Given the description of an element on the screen output the (x, y) to click on. 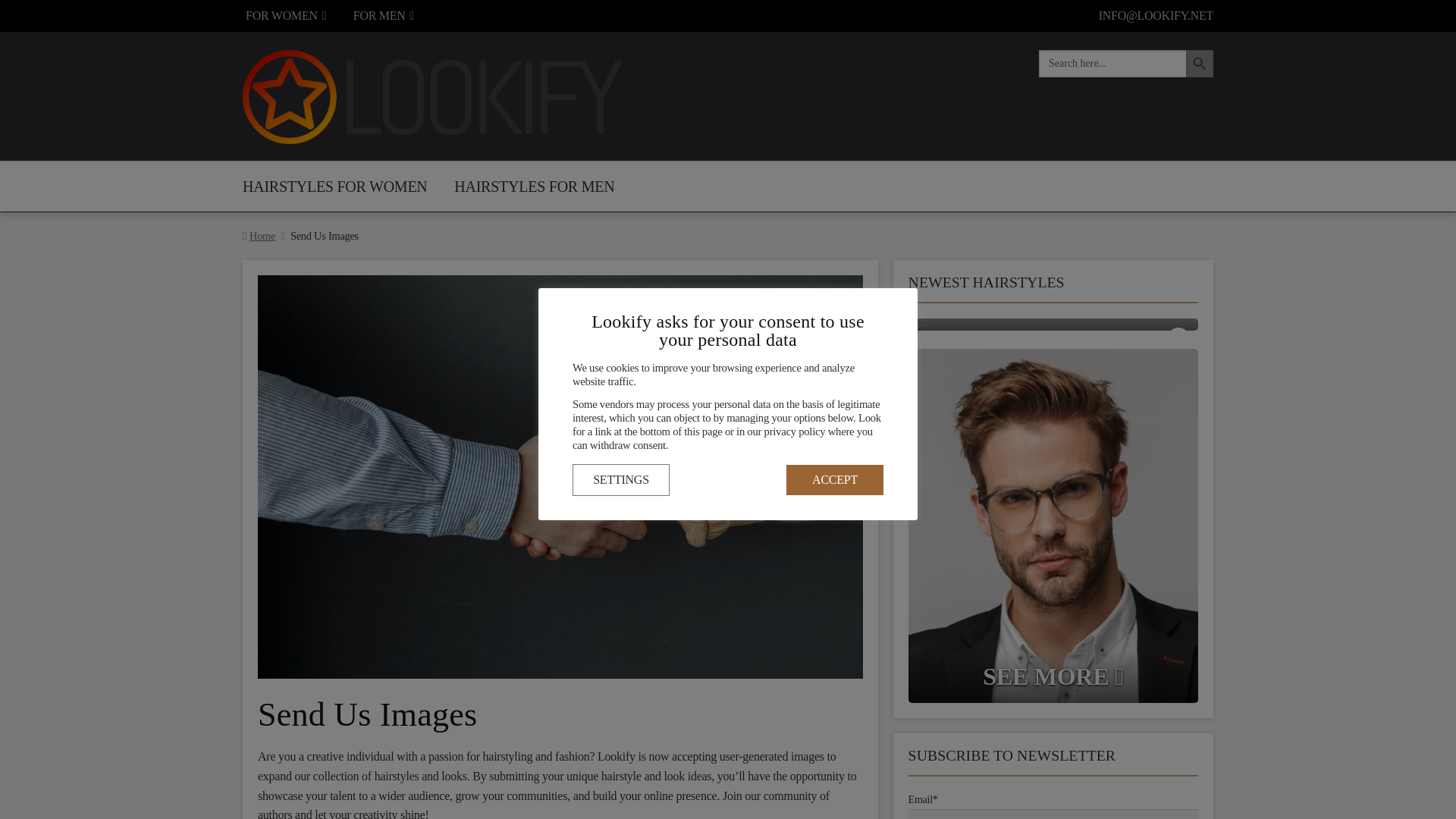
HAIRSTYLES FOR WOMEN (334, 186)
SEE MORE (1053, 324)
SEE MORE (1053, 525)
Home (261, 235)
FOR MEN (383, 15)
HAIRSTYLES FOR MEN (534, 186)
Search Button (1199, 62)
FOR WOMEN (284, 15)
